Given the description of an element on the screen output the (x, y) to click on. 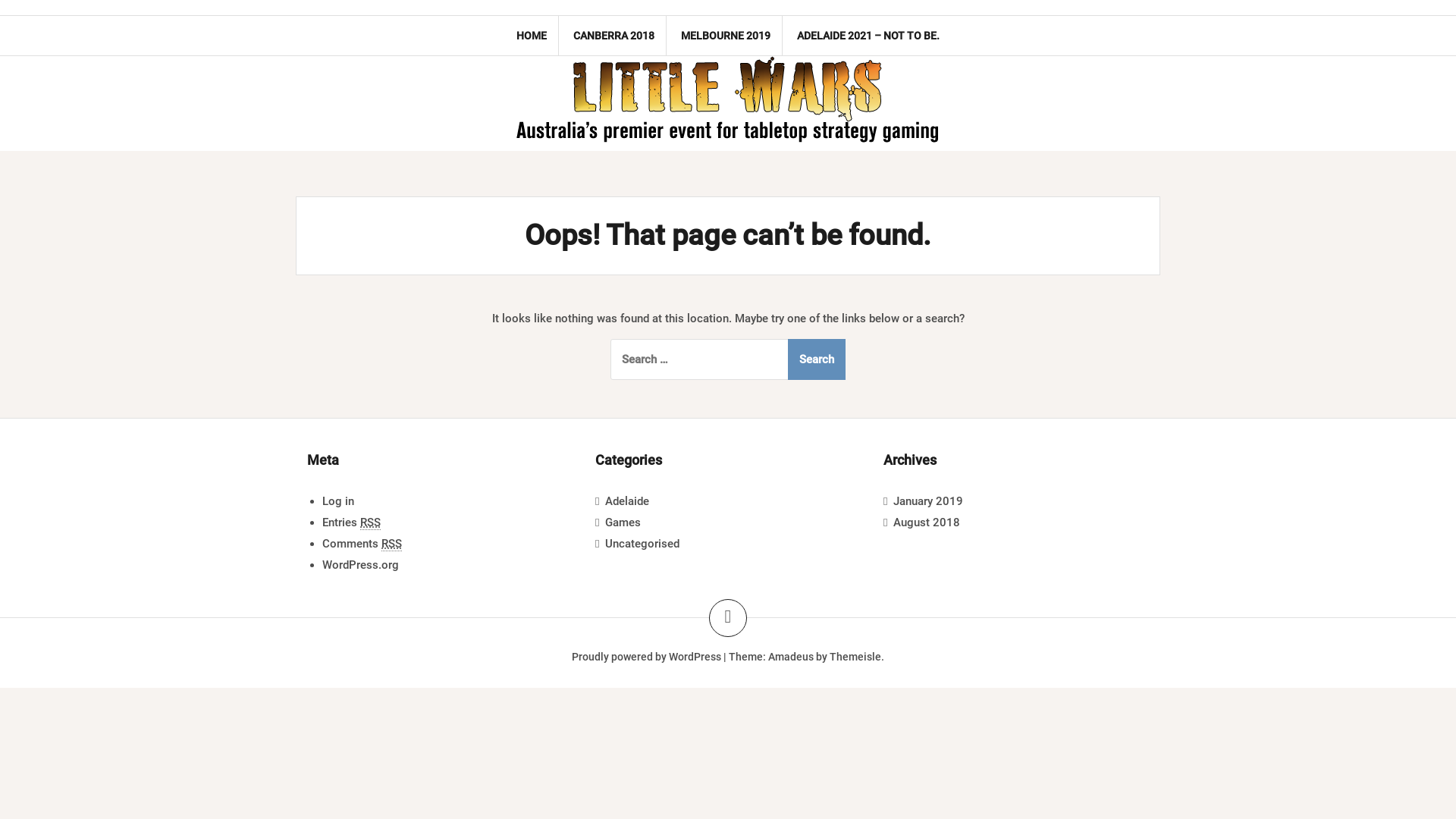
Entries RSS Element type: text (351, 522)
Adelaide Element type: text (627, 501)
August 2018 Element type: text (926, 522)
WordPress.org Element type: text (360, 564)
Games Element type: text (622, 522)
MELBOURNE 2019 Element type: text (725, 35)
Proudly powered by WordPress Element type: text (646, 656)
CANBERRA 2018 Element type: text (613, 35)
January 2019 Element type: text (928, 501)
Amadeus Element type: text (790, 656)
Uncategorised Element type: text (642, 543)
HOME Element type: text (531, 35)
Skip to content Element type: text (0, 0)
Log in Element type: text (338, 501)
Comments RSS Element type: text (361, 543)
Search Element type: text (816, 358)
